Given the description of an element on the screen output the (x, y) to click on. 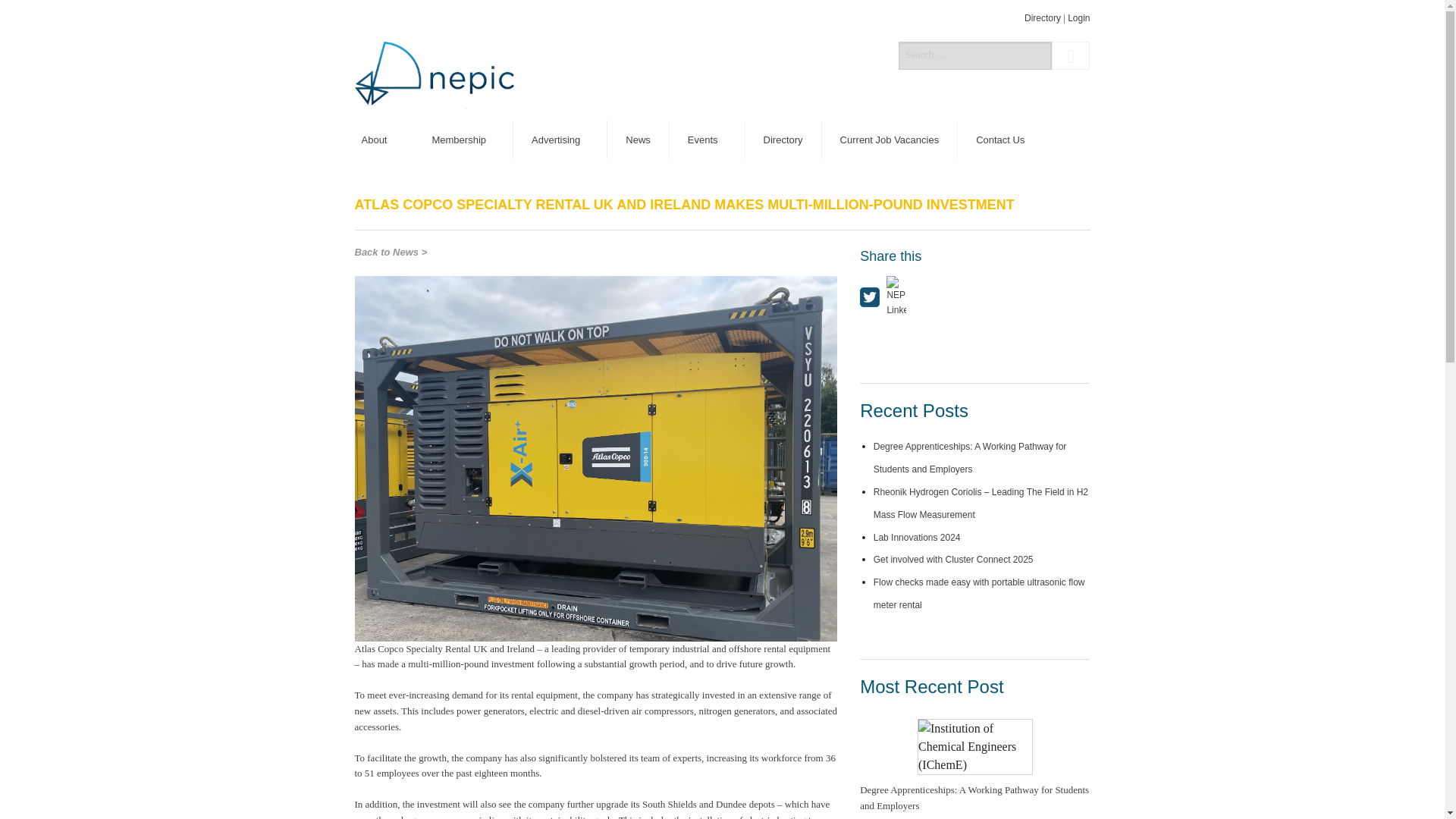
Events (707, 139)
Directory (1043, 18)
Contact Us (1000, 139)
Upcoming Events (707, 178)
Get involved with Cluster Connect 2025 (953, 559)
About (377, 139)
Benefits (463, 178)
News (638, 139)
2023 Awards Gallery (707, 217)
